Given the description of an element on the screen output the (x, y) to click on. 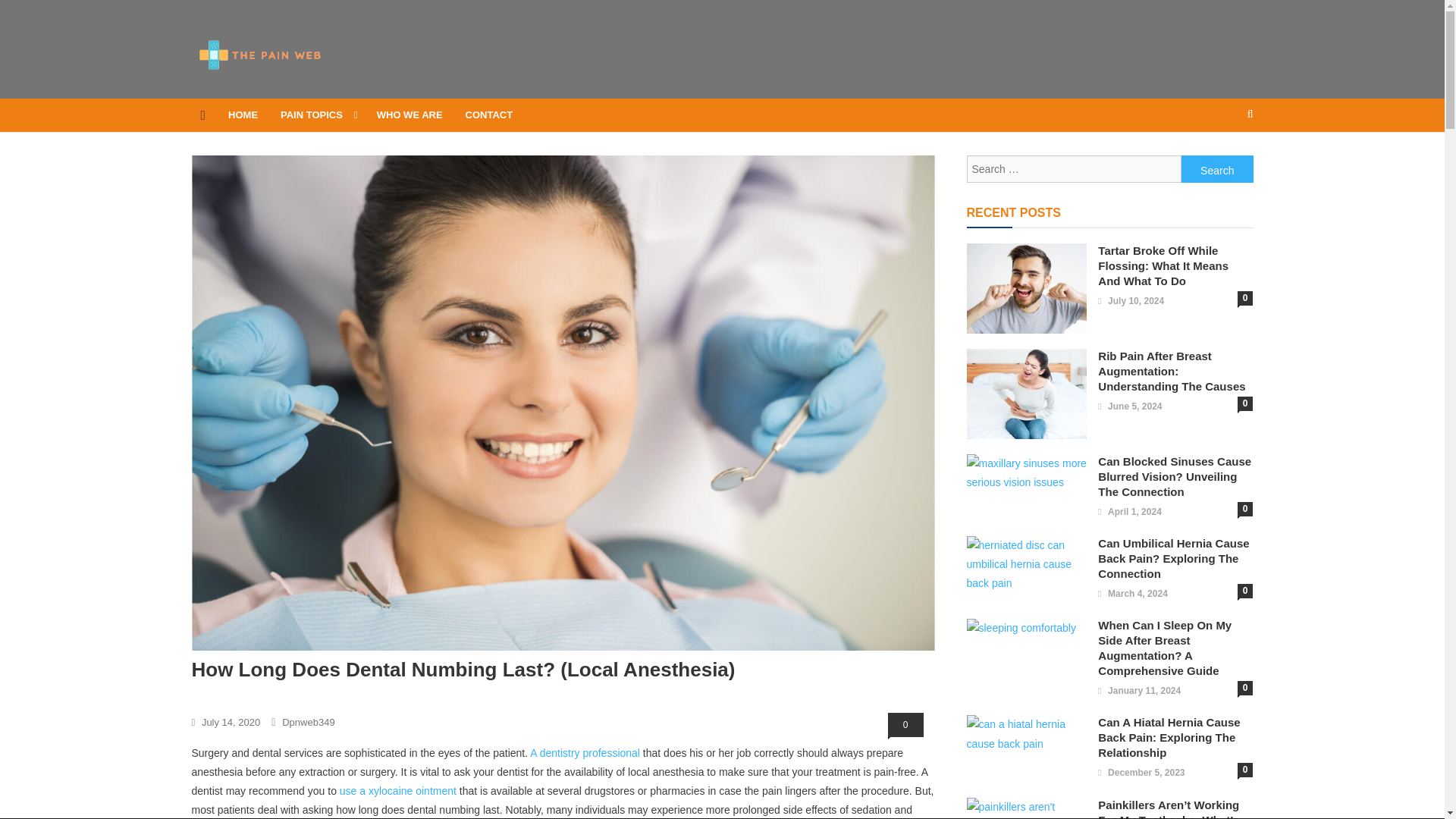
A dentistry professional (584, 752)
HOME (242, 114)
PAIN TOPICS (317, 114)
Search (1216, 168)
WHO WE ARE (409, 114)
Dpnweb349 (308, 722)
0 (905, 724)
Search (1216, 168)
Search (1221, 164)
The Pain Web (269, 86)
